Given the description of an element on the screen output the (x, y) to click on. 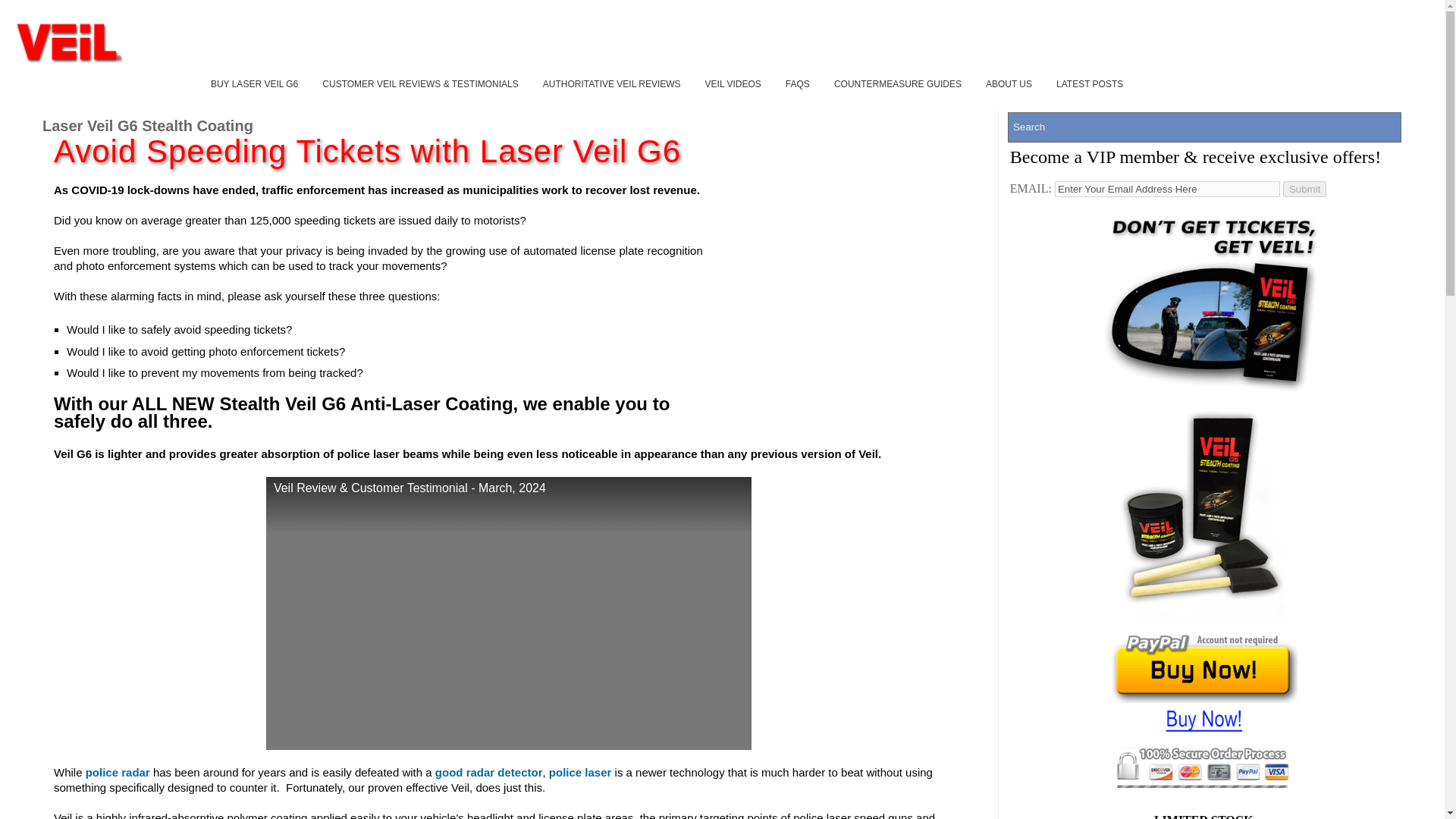
get veil (1205, 299)
police radar (117, 771)
good radar detector (489, 771)
ABOUT US (1008, 83)
Type and hit enter (1203, 127)
police laser (579, 771)
COUNTERMEASURE GUIDES (897, 83)
Submit (1304, 188)
FAQS (797, 83)
LATEST POSTS (1089, 83)
